Given the description of an element on the screen output the (x, y) to click on. 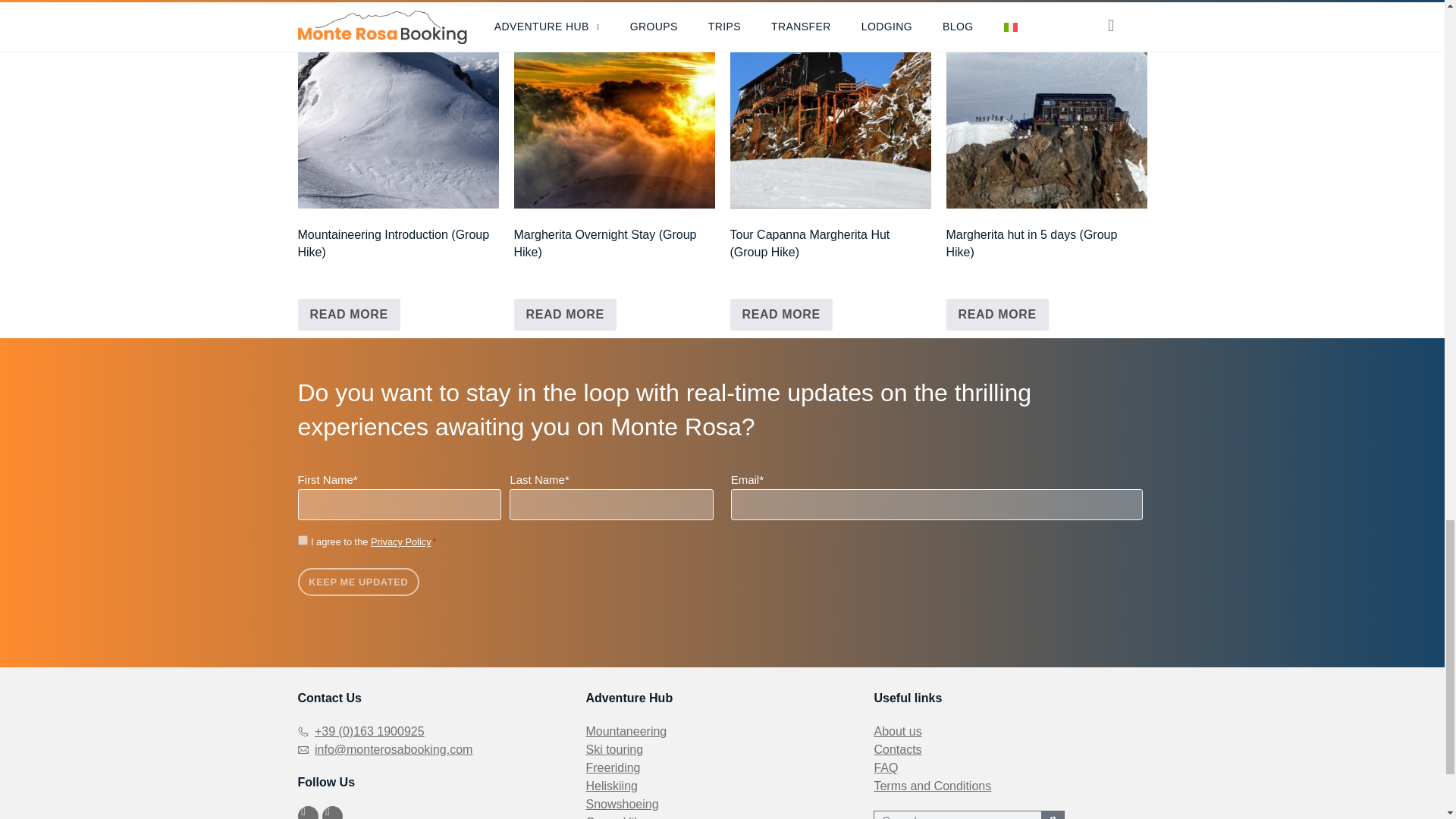
Keep me updated (358, 582)
1 (302, 540)
